Given the description of an element on the screen output the (x, y) to click on. 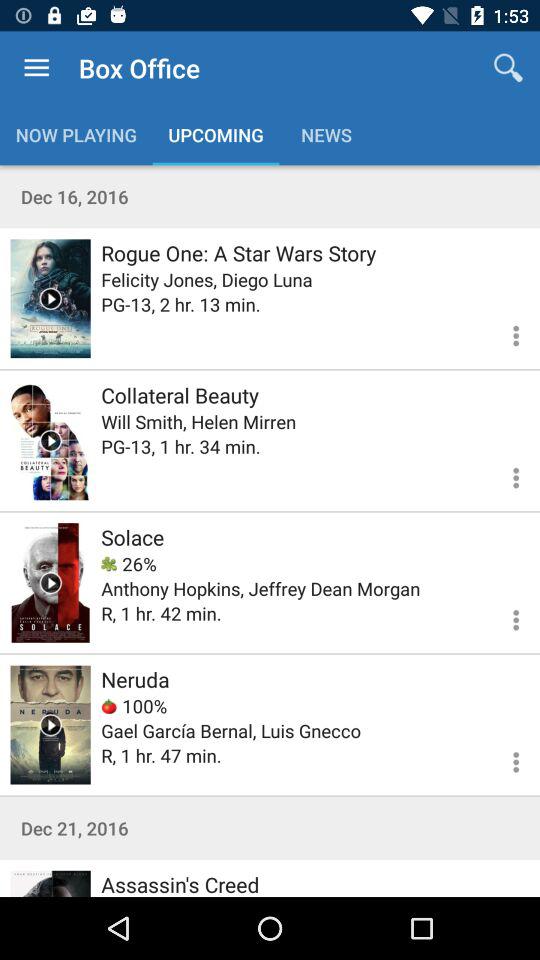
more options (503, 332)
